Given the description of an element on the screen output the (x, y) to click on. 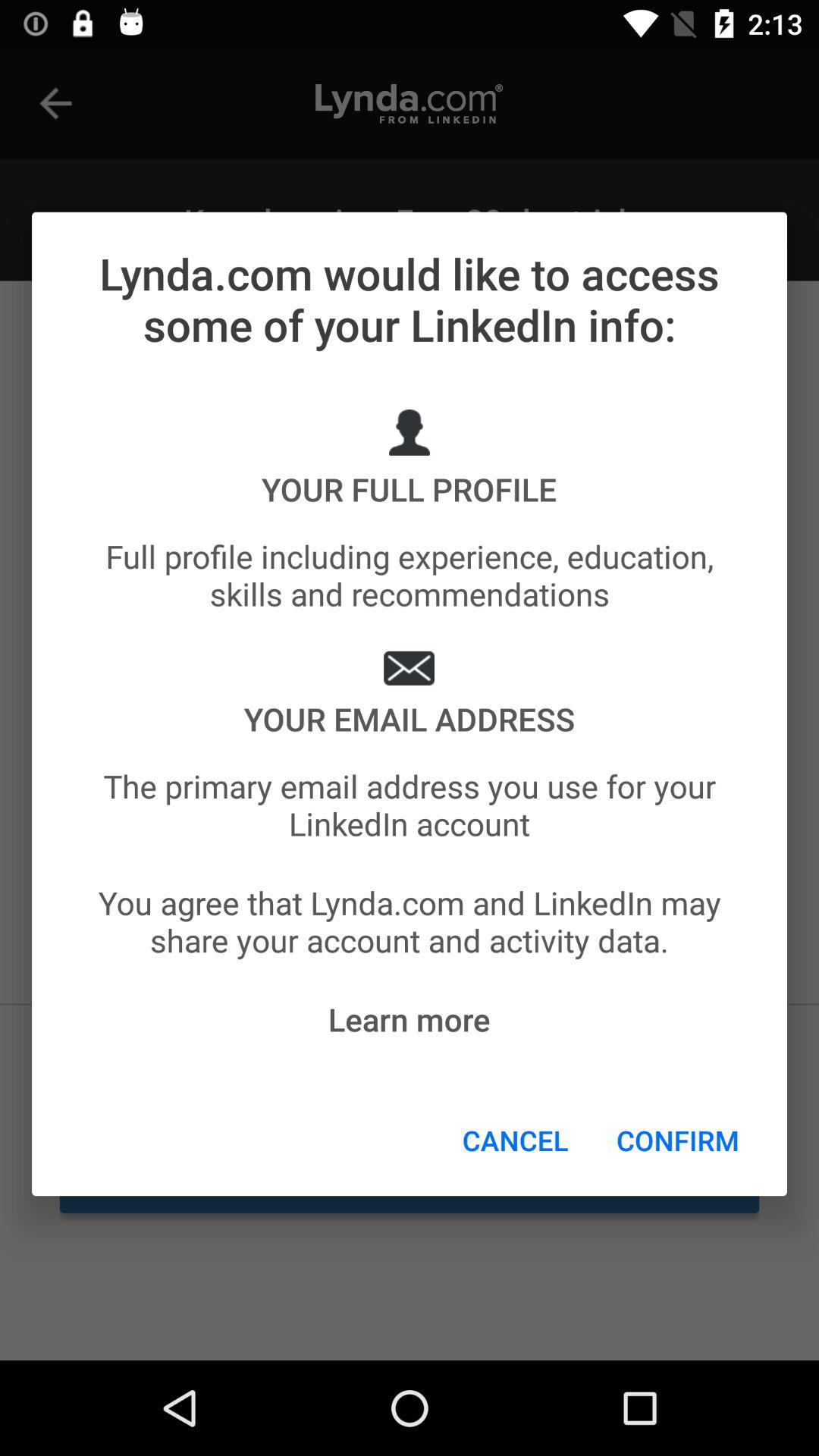
scroll to the confirm item (677, 1140)
